Given the description of an element on the screen output the (x, y) to click on. 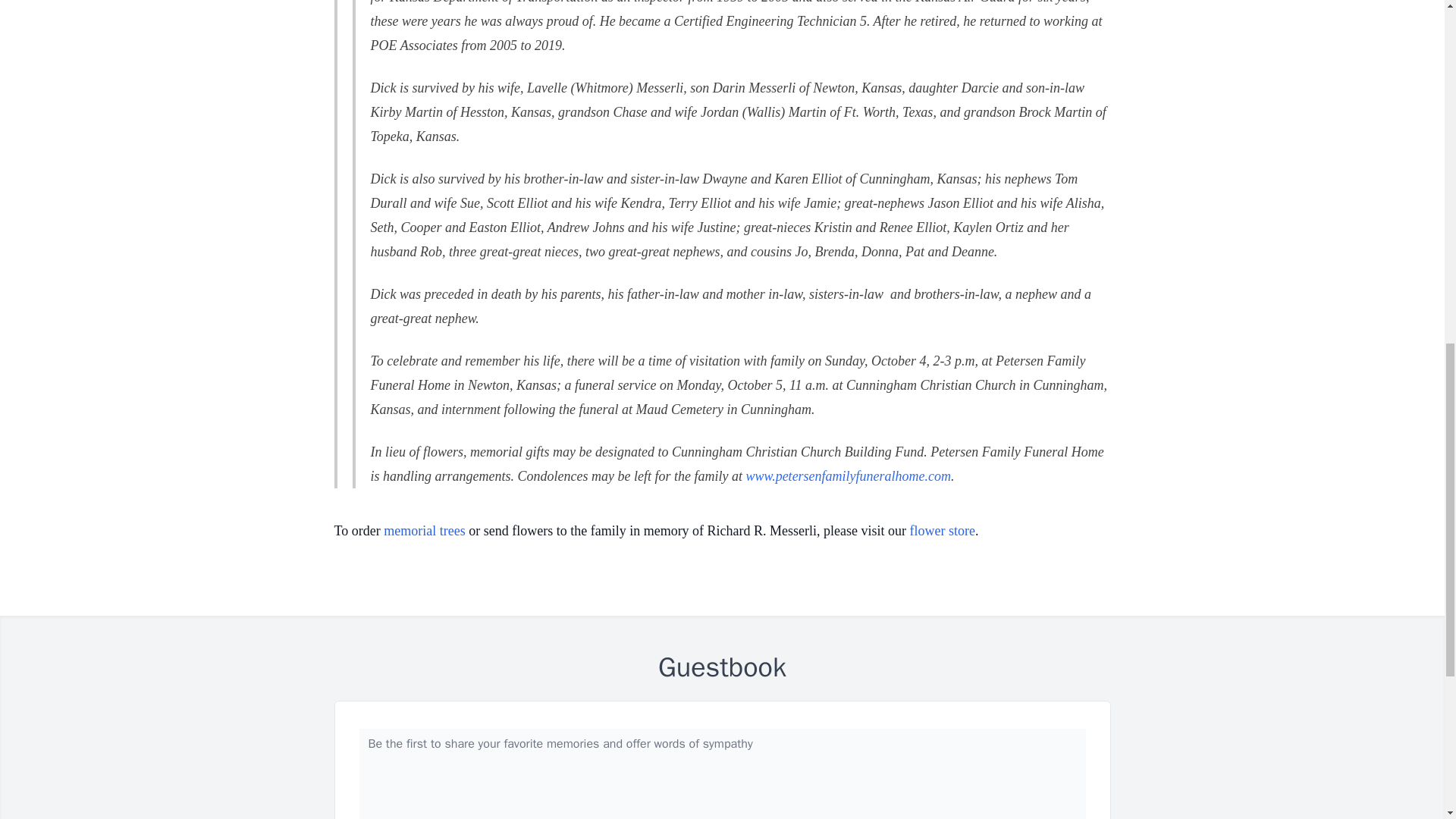
memorial trees (424, 530)
flower store (942, 530)
www.petersenfamilyfuneralhome.com (847, 476)
